Given the description of an element on the screen output the (x, y) to click on. 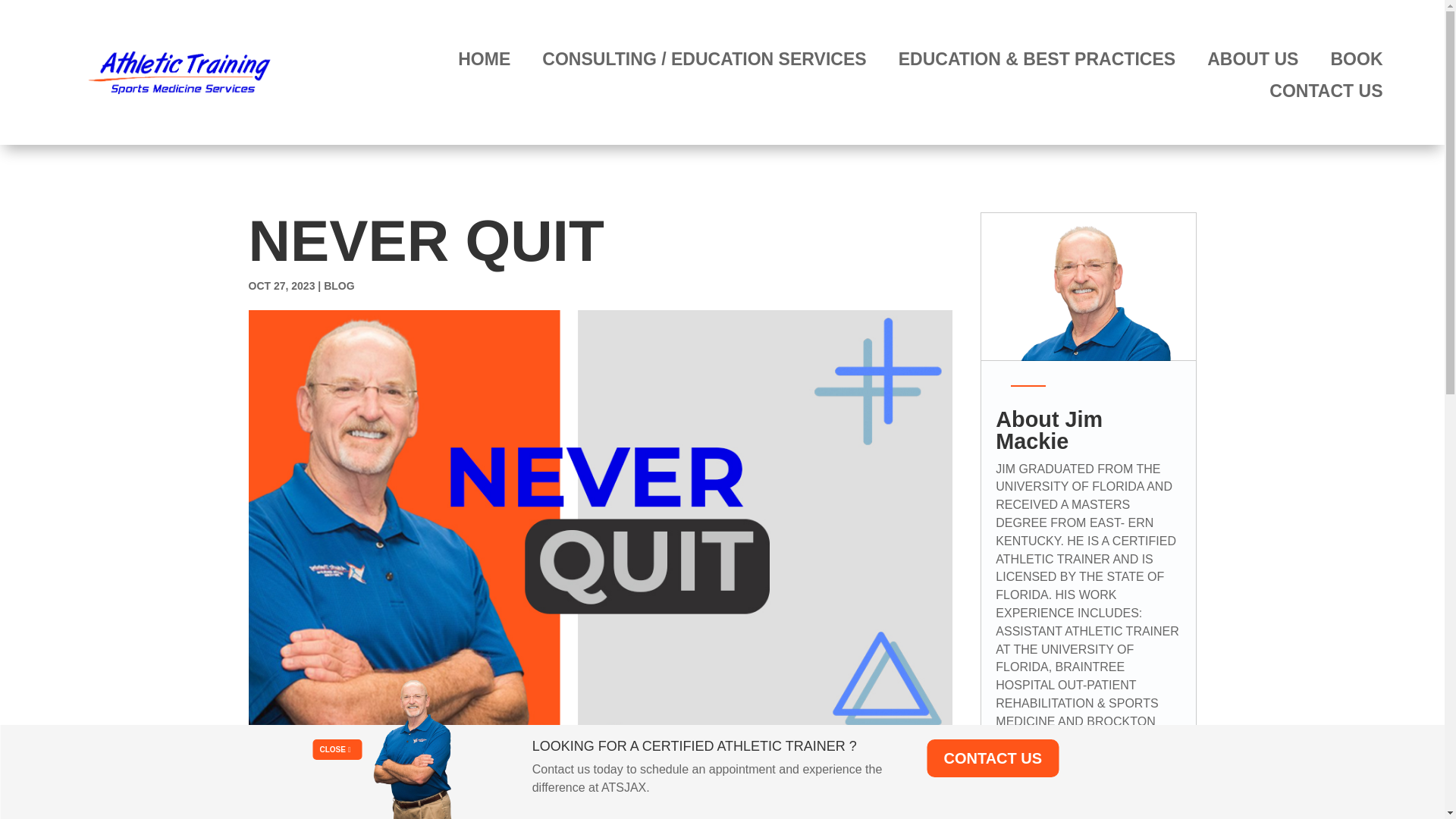
HOME (483, 58)
BOOK (1356, 58)
BLOG (338, 285)
CONTACT US (1326, 90)
CLOSE (337, 749)
ABOUT US (1252, 58)
CONTACT US (992, 758)
profile-jim-650x1024-removebg-preview (415, 746)
